Given the description of an element on the screen output the (x, y) to click on. 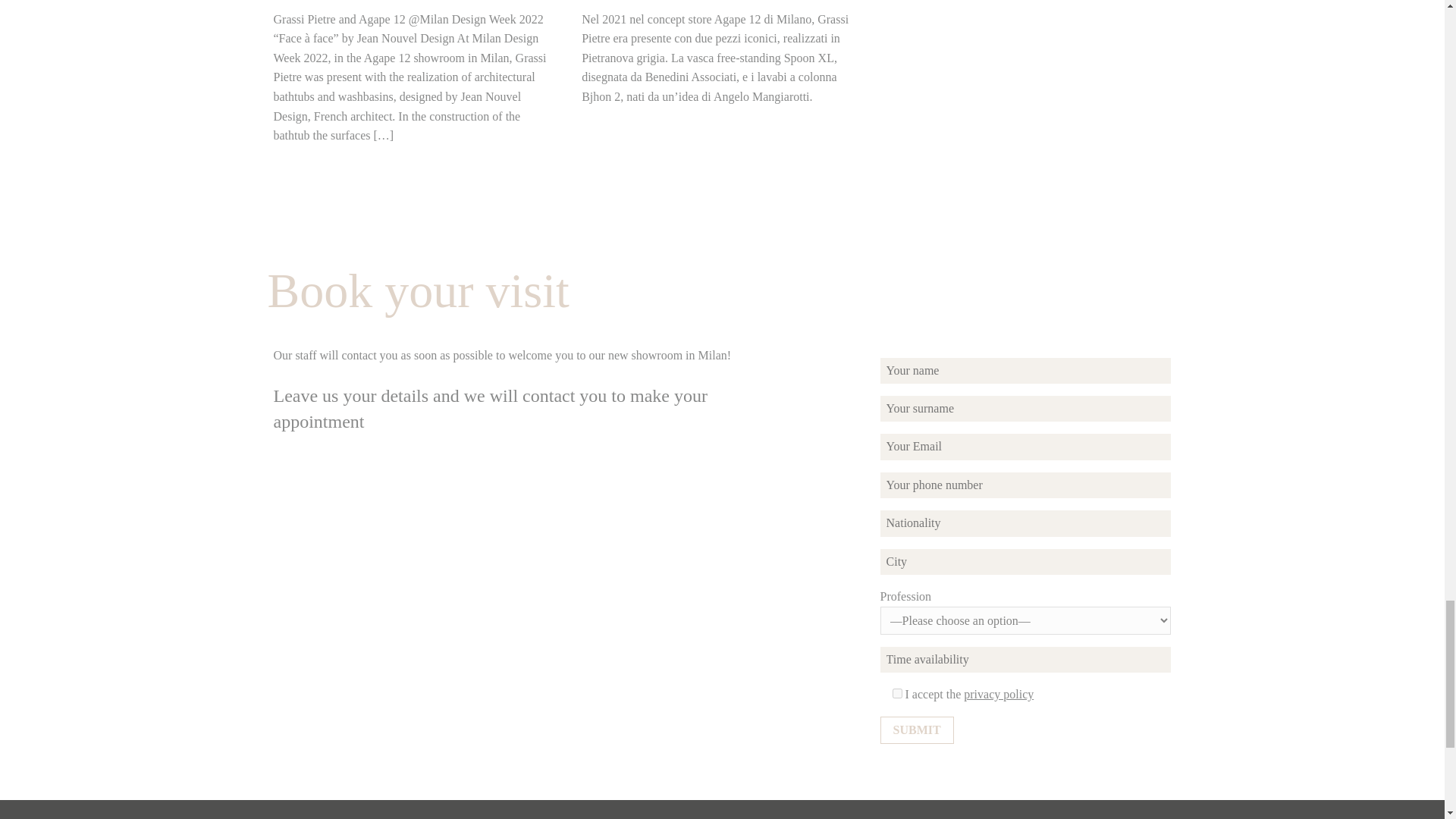
Submit (916, 729)
privacy policy (998, 694)
1 (897, 693)
Submit (916, 729)
